Given the description of an element on the screen output the (x, y) to click on. 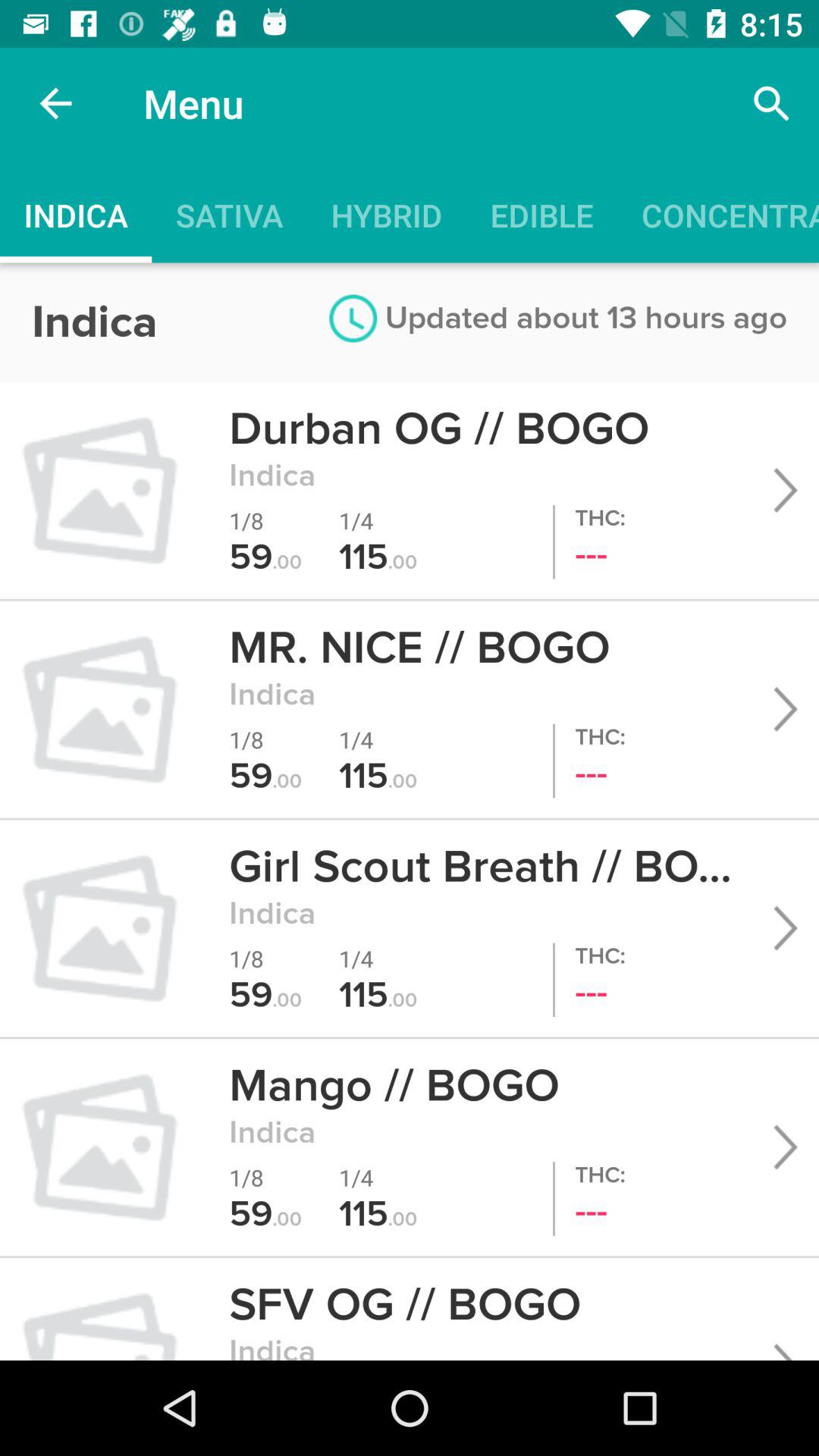
launch icon next to the menu icon (771, 103)
